Given the description of an element on the screen output the (x, y) to click on. 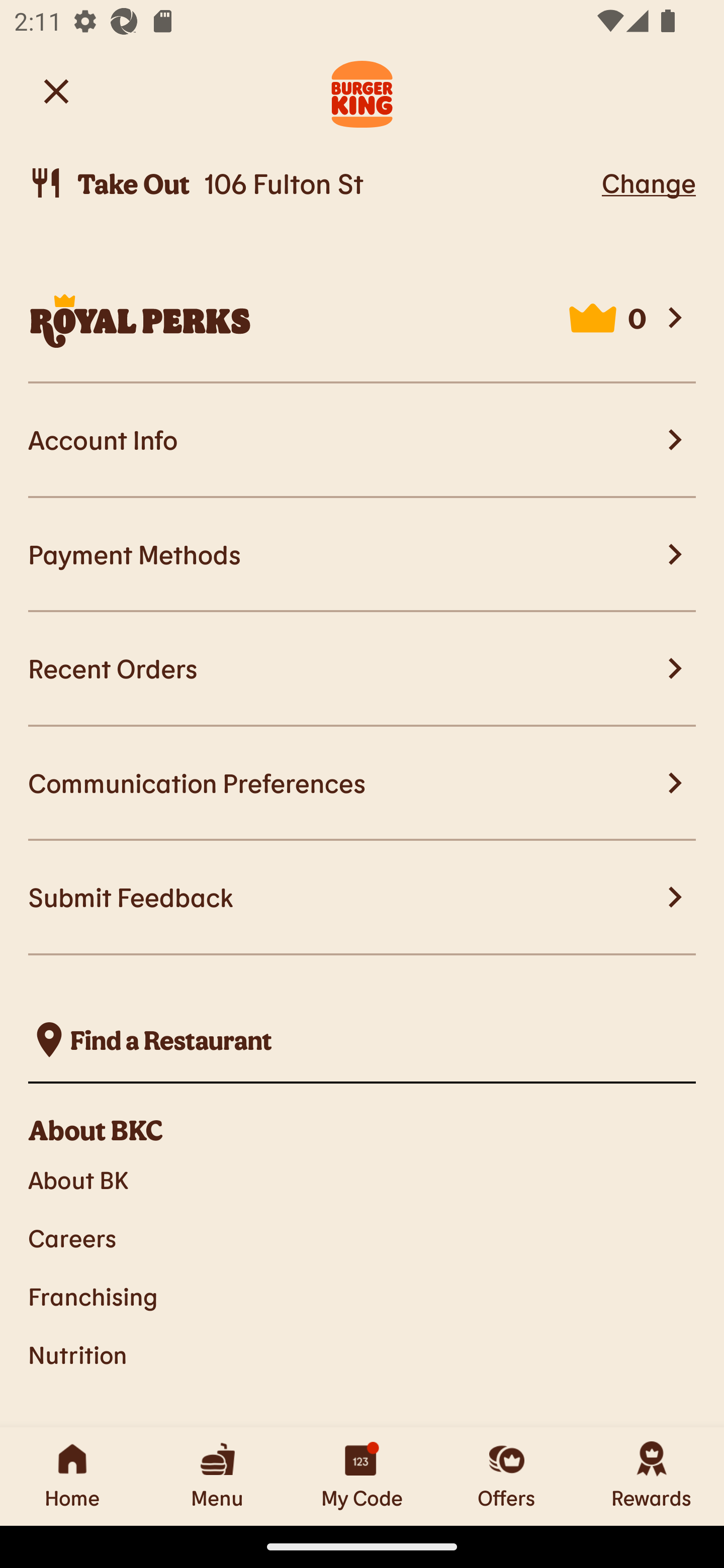
Burger King Logo. Navigate to Home (362, 91)
Back  (56, 90)
Take Out, 106 Fulton St  Take Out 106 Fulton St (311, 183)
Change (648, 182)
Account Info Account Info  (361, 441)
Payment Methods Payment Methods  (361, 554)
Recent Orders Recent Orders  (361, 668)
Submit Feedback Submit Feedback  (361, 897)
, Find a Restaurant  Find a Restaurant (361, 1040)
About BK (361, 1178)
Careers (361, 1237)
Franchising (361, 1295)
Nutrition (361, 1354)
Home (72, 1475)
Menu (216, 1475)
My Code (361, 1475)
Offers (506, 1475)
Rewards (651, 1475)
